Given the description of an element on the screen output the (x, y) to click on. 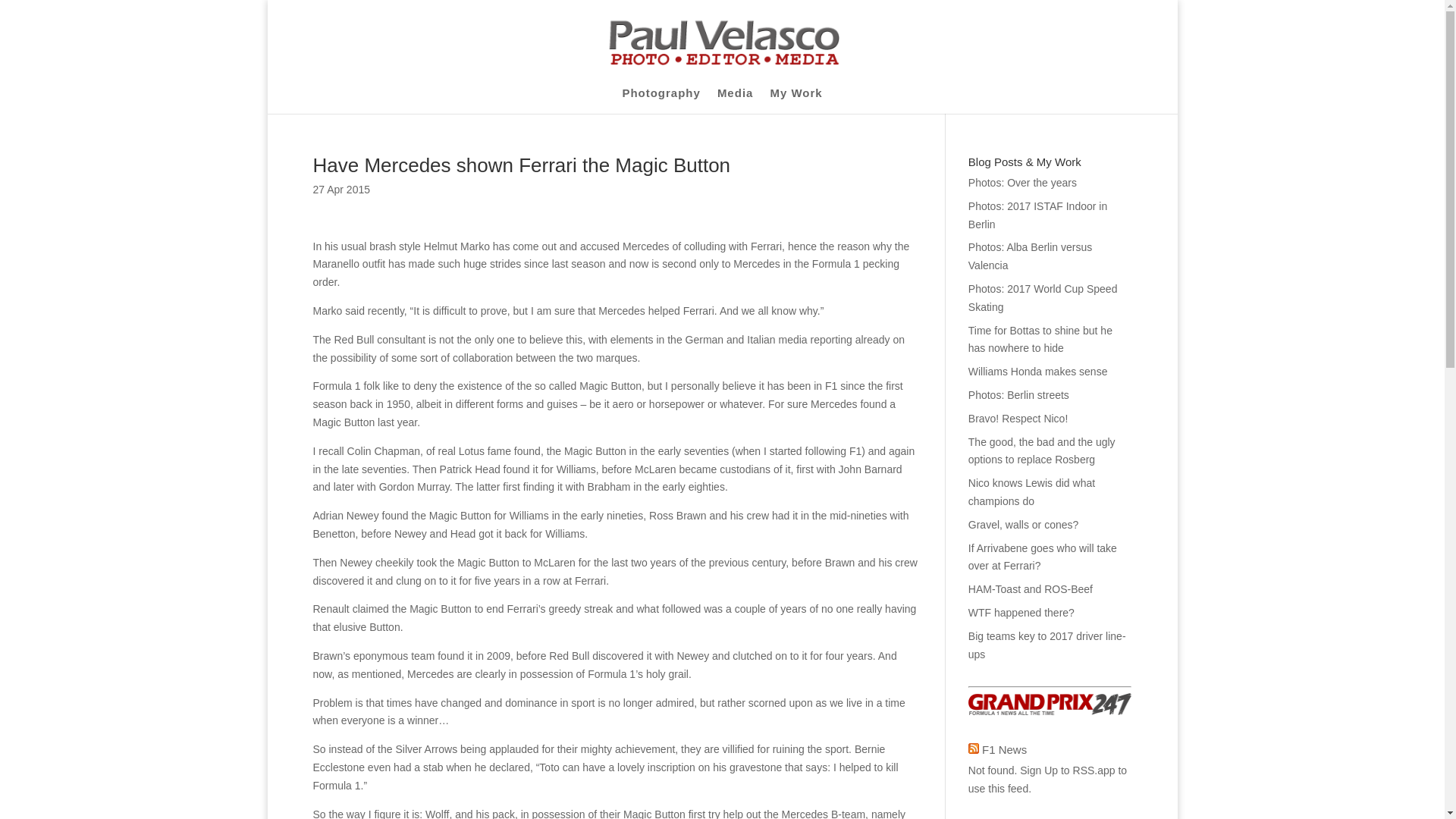
Not found. Sign Up to RSS.app to use this feed. (1047, 779)
Nico knows Lewis did what champions do (1031, 491)
WTF happened there? (1021, 612)
Time for Bottas to shine but he has nowhere to hide (1040, 339)
F1 News (1003, 748)
Photos: 2017 ISTAF Indoor in Berlin (1037, 214)
Media (735, 100)
Photos: Over the years (1022, 182)
Photography (660, 100)
If Arrivabene goes who will take over at Ferrari? (1042, 557)
My Work (796, 100)
Gravel, walls or cones? (1023, 524)
Photos: Alba Berlin versus Valencia (1030, 255)
HAM-Toast and ROS-Beef (1030, 589)
Photos: Berlin streets (1018, 395)
